Given the description of an element on the screen output the (x, y) to click on. 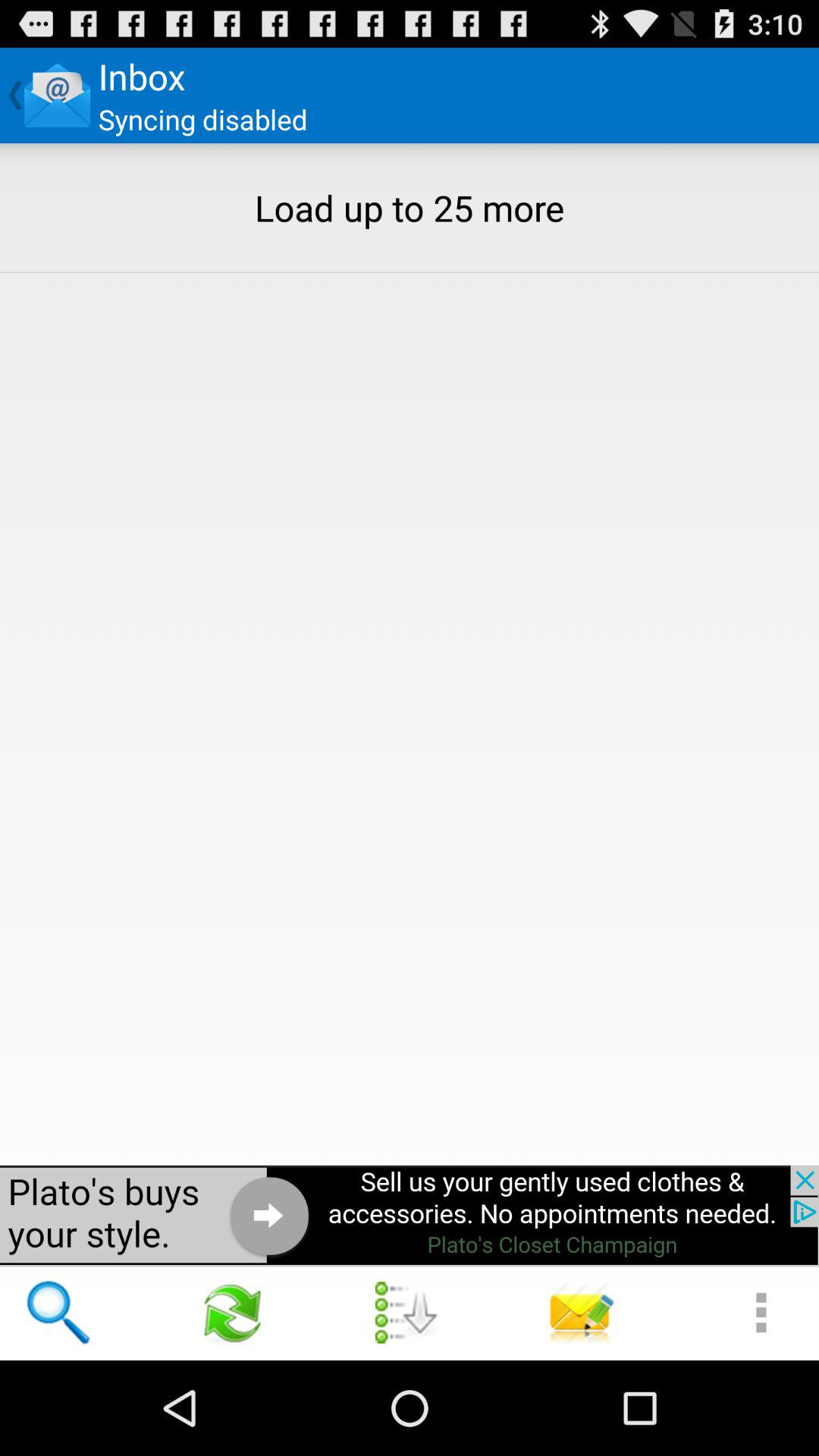
click on advertisements (409, 1214)
